Given the description of an element on the screen output the (x, y) to click on. 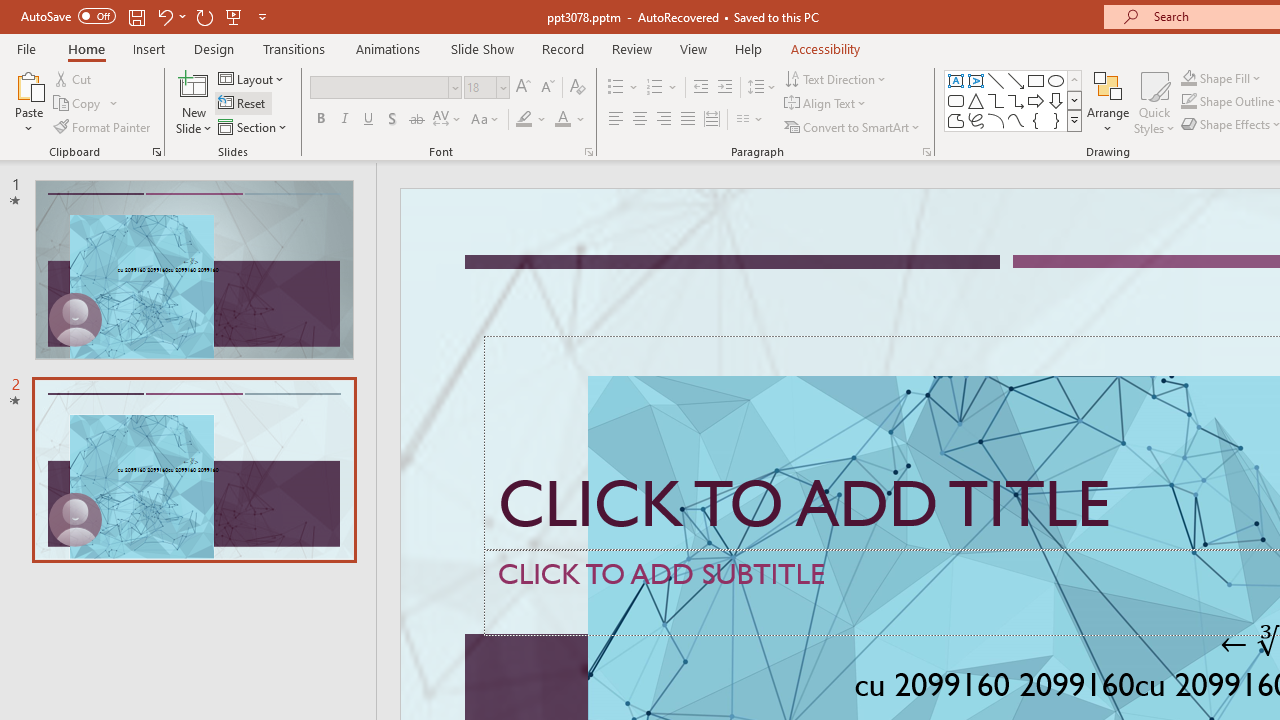
Shape Fill Dark Green, Accent 2 (1188, 78)
